Given the description of an element on the screen output the (x, y) to click on. 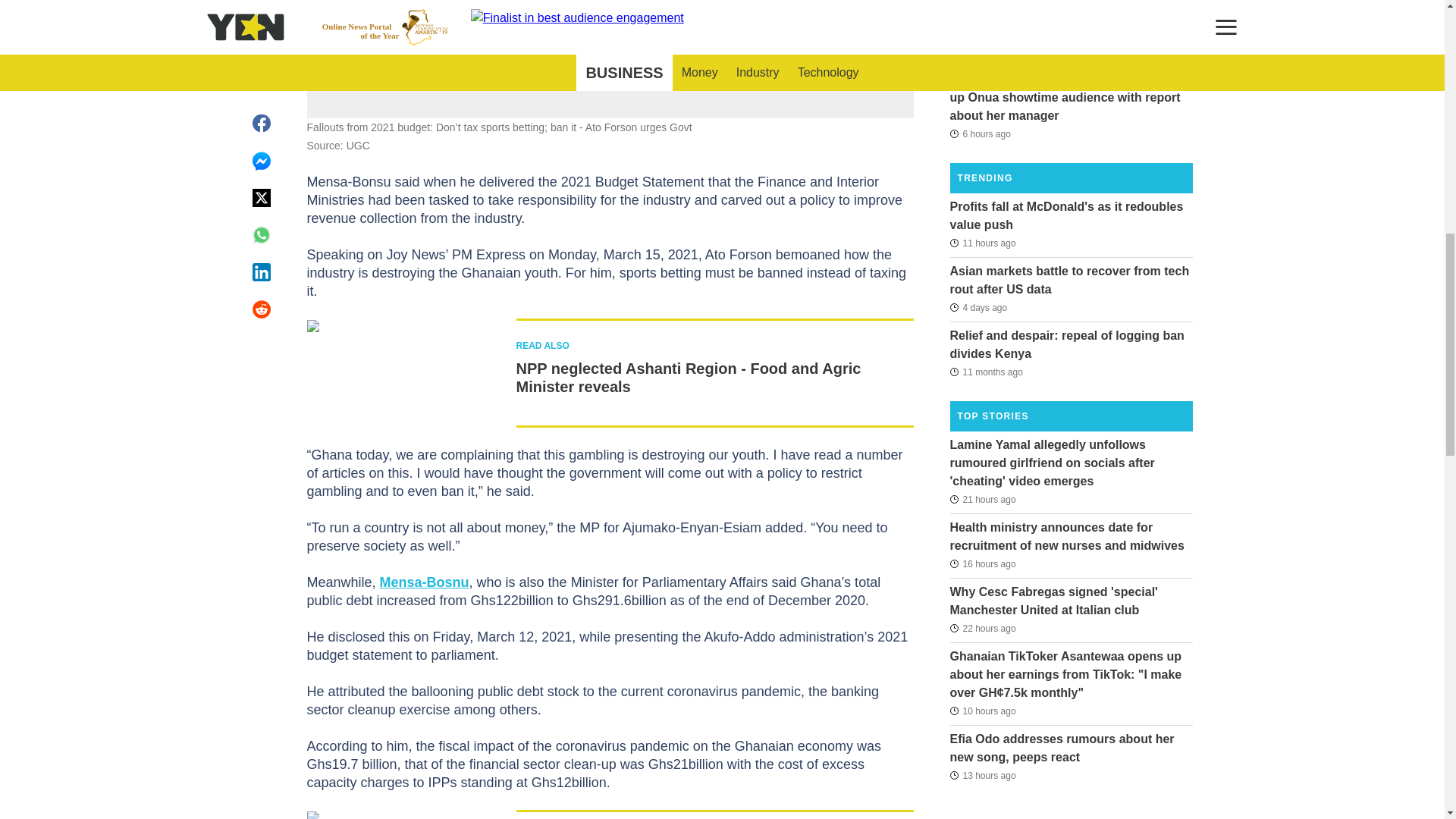
2024-07-29T06:29:56Z (981, 628)
2024-07-29T22:07:20Z (979, 133)
2023-08-07T03:05:06Z (985, 371)
2024-07-29T22:48:22Z (979, 51)
2024-07-29T18:30:10Z (981, 710)
2024-07-29T16:55:05Z (981, 242)
2024-07-29T11:48:35Z (981, 564)
2024-07-29T14:47:01Z (981, 774)
2024-07-26T03:10:15Z (978, 307)
2024-07-29T06:35:56Z (981, 498)
